Given the description of an element on the screen output the (x, y) to click on. 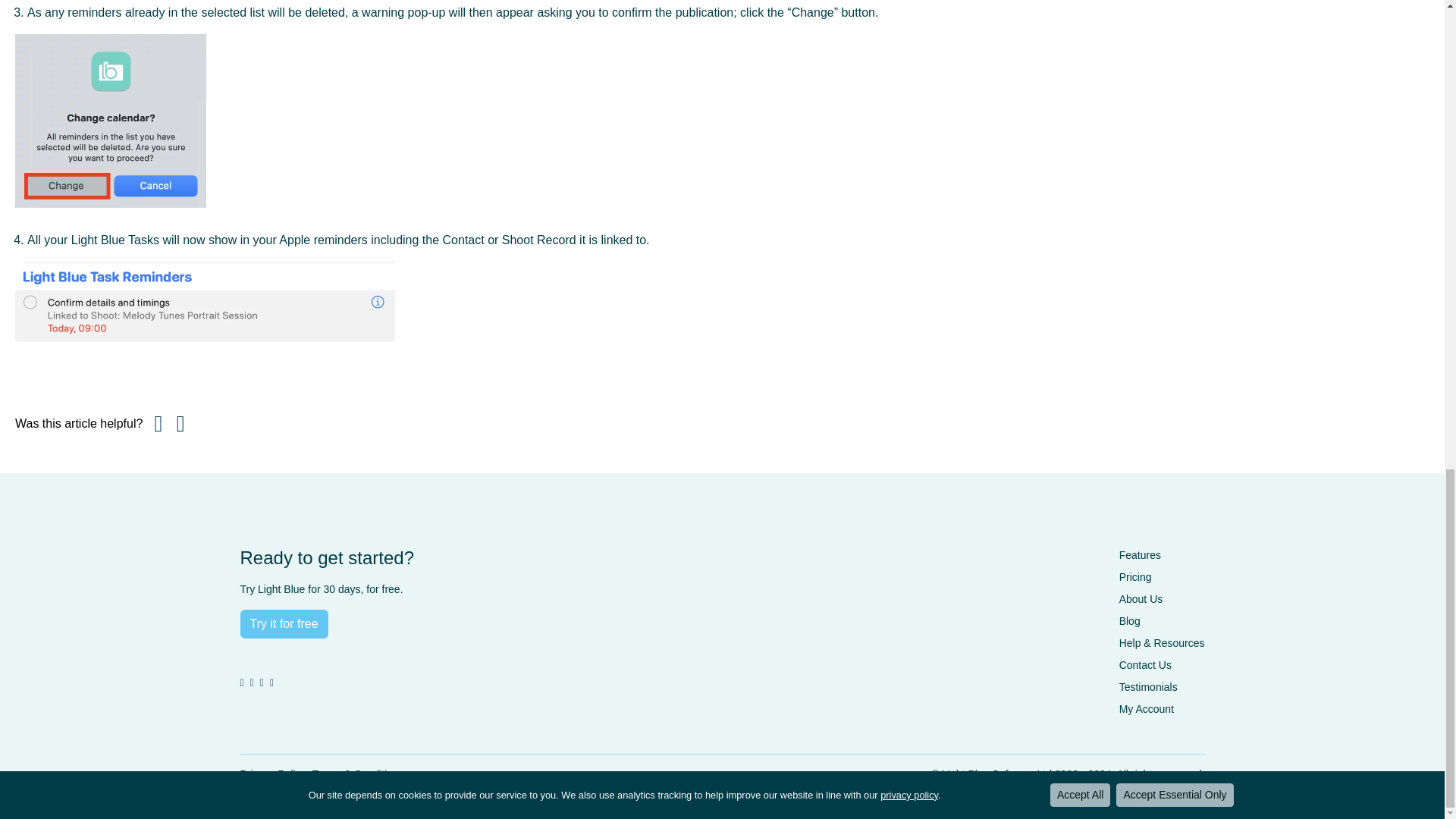
Pricing (1135, 576)
About Us (1141, 598)
Privacy Policy (272, 774)
Blog (1129, 621)
Try it for free (283, 623)
My Account (1146, 708)
Features (1139, 554)
Contact Us (1145, 664)
Testimonials (1148, 686)
